Given the description of an element on the screen output the (x, y) to click on. 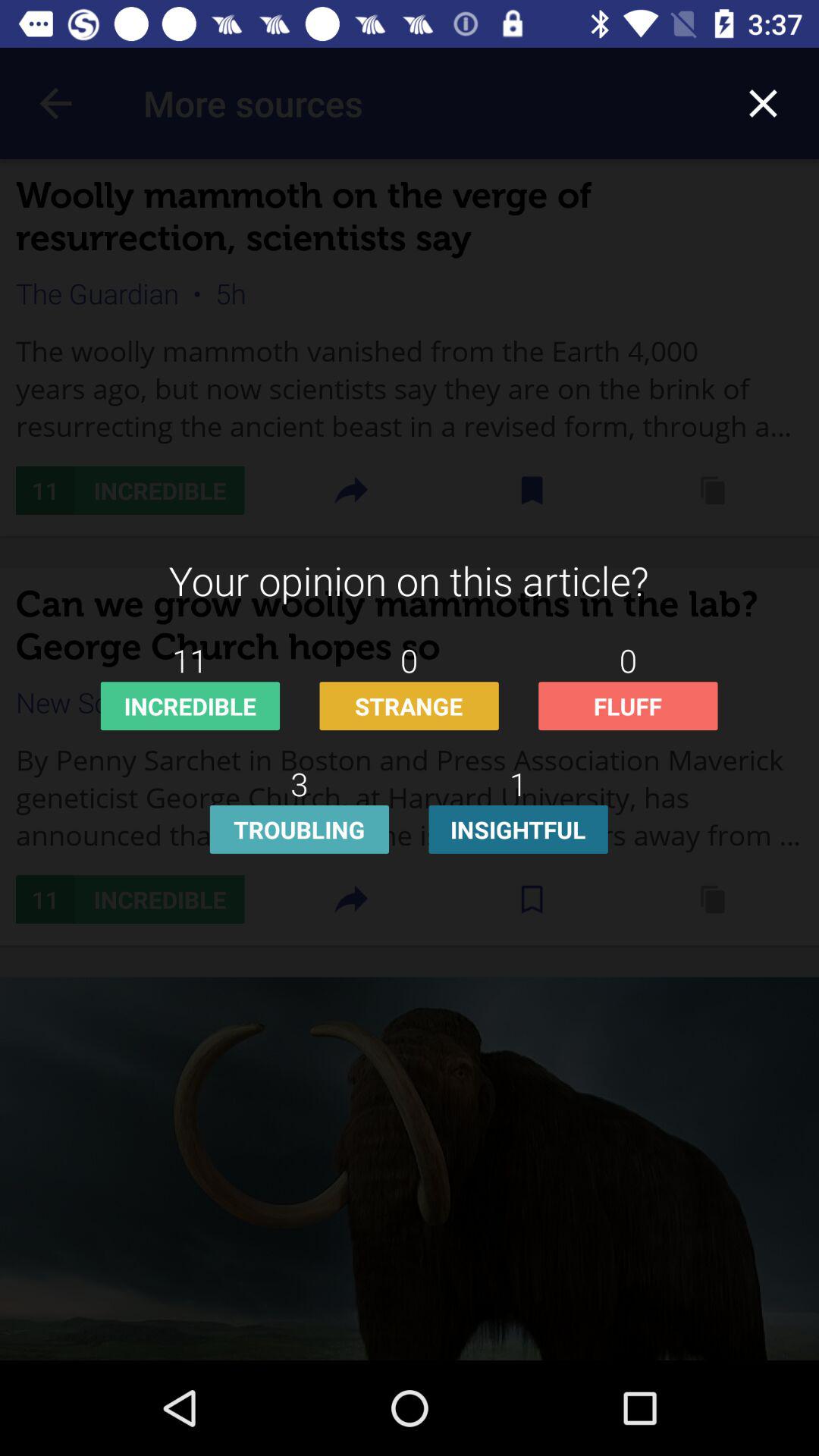
turn on the icon next to the more sources icon (763, 103)
